Given the description of an element on the screen output the (x, y) to click on. 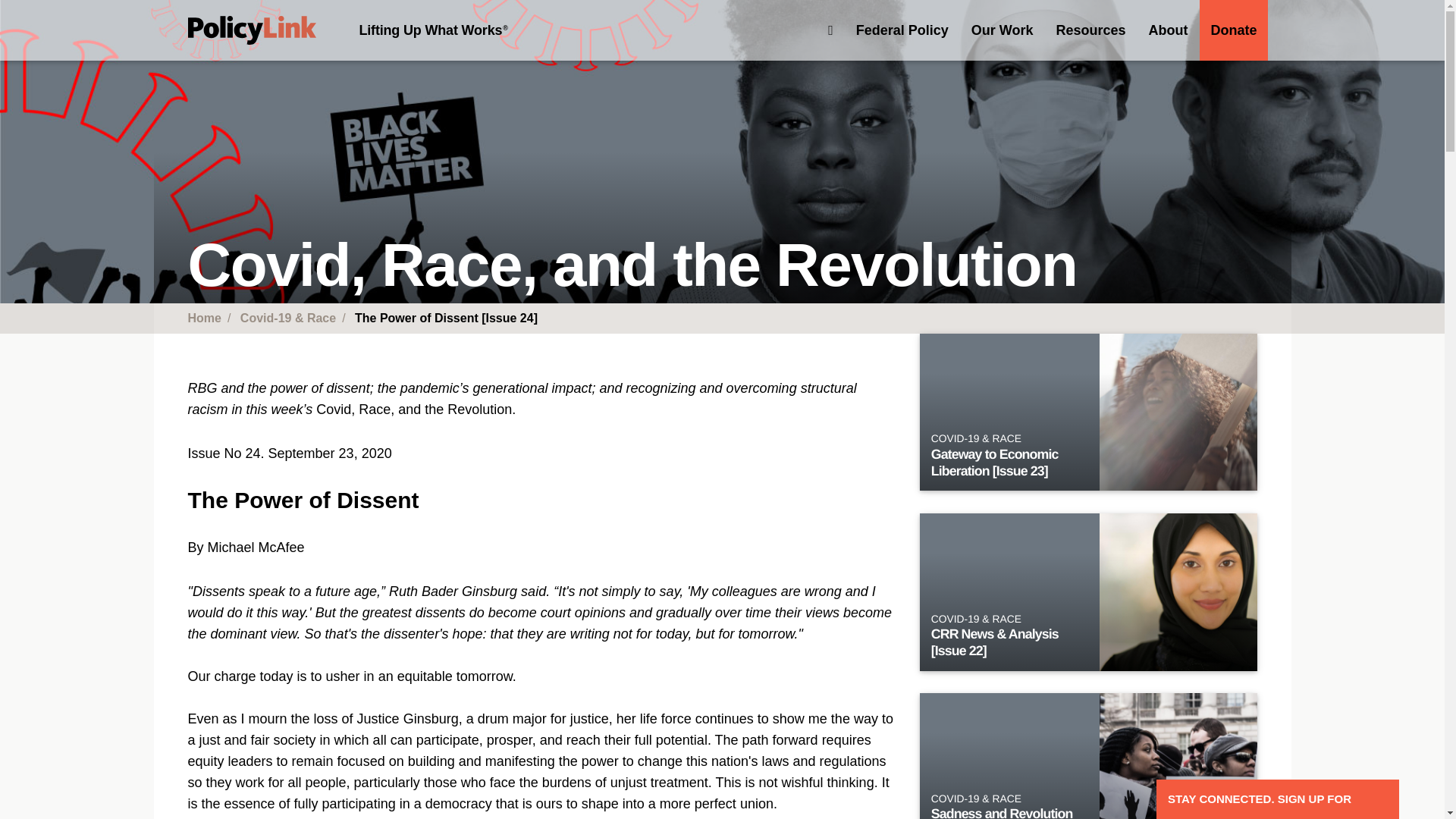
Our Work (1002, 30)
About (1168, 30)
Resources (1091, 30)
Home (252, 30)
Federal Policy (901, 30)
